Given the description of an element on the screen output the (x, y) to click on. 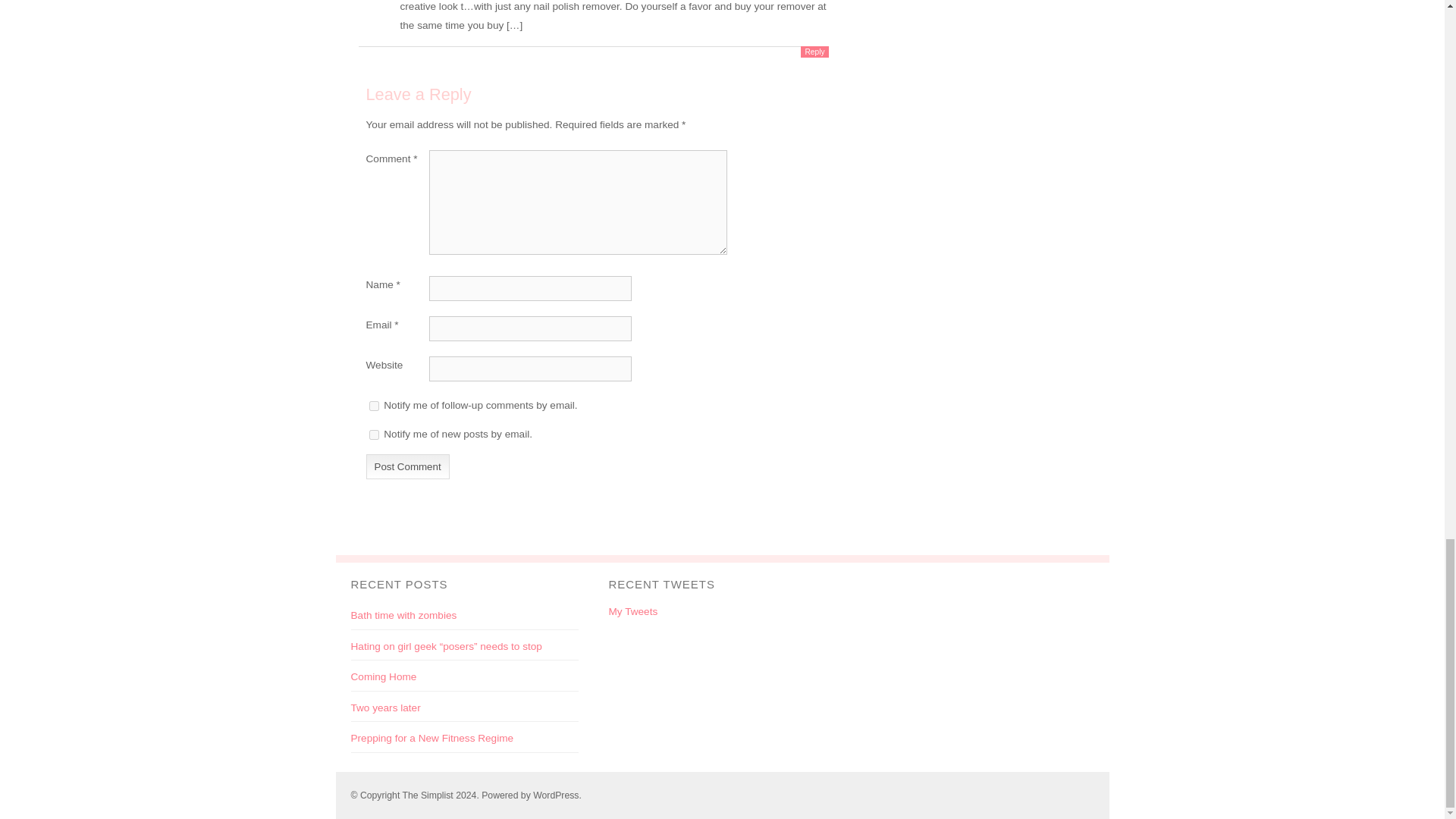
subscribe (373, 434)
Post Comment (406, 466)
Theme designed by BluChic (1073, 795)
Reply (814, 51)
Post Comment (406, 466)
subscribe (373, 406)
